Given the description of an element on the screen output the (x, y) to click on. 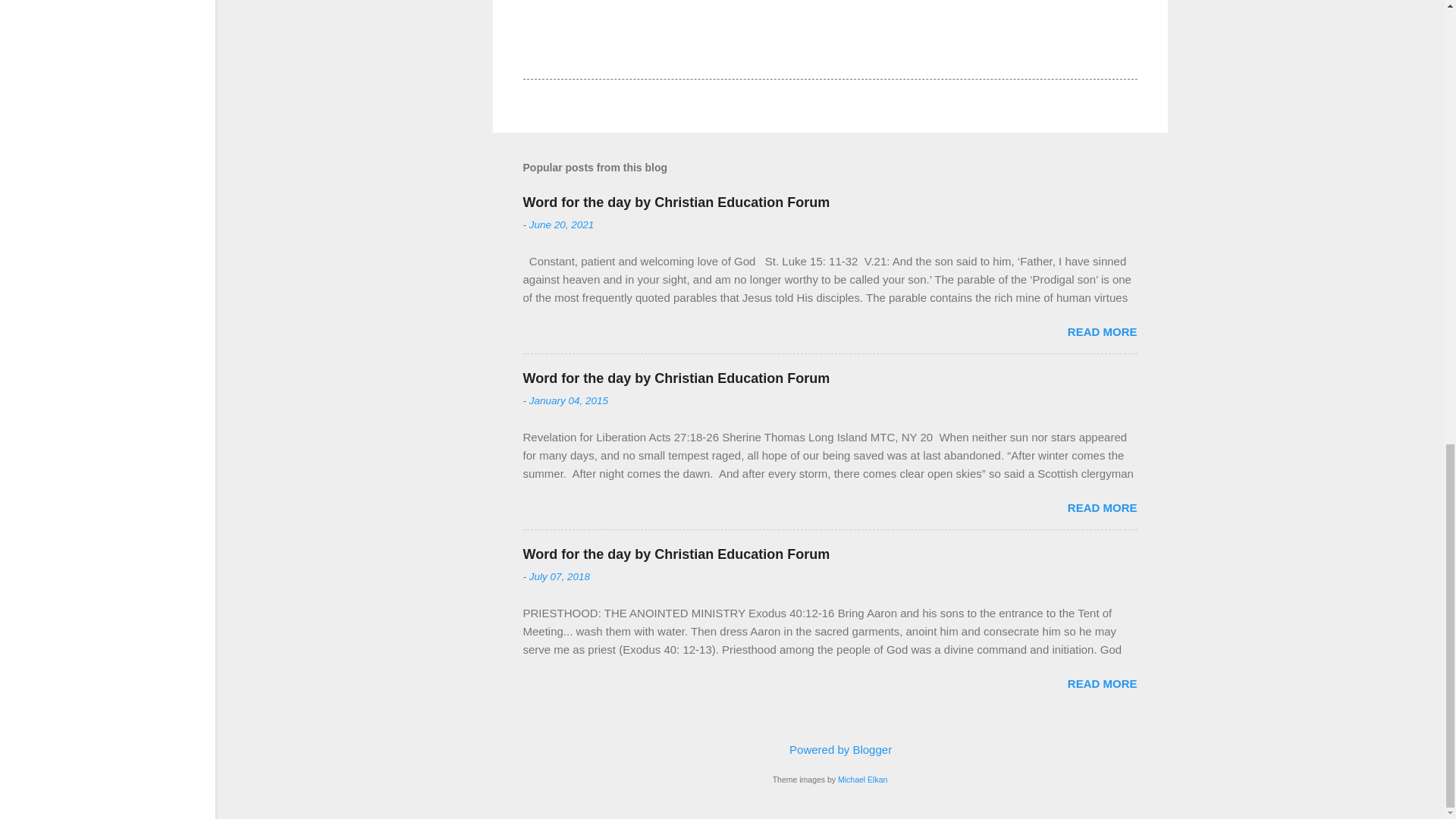
Word for the day by Christian Education Forum (675, 378)
READ MORE (1102, 683)
READ MORE (1102, 507)
Word for the day by Christian Education Forum (675, 201)
permanent link (561, 224)
January 04, 2015 (568, 400)
Michael Elkan (862, 778)
Powered by Blogger (829, 748)
June 20, 2021 (561, 224)
Word for the day by Christian Education Forum (675, 554)
July 07, 2018 (559, 576)
READ MORE (1102, 331)
